Given the description of an element on the screen output the (x, y) to click on. 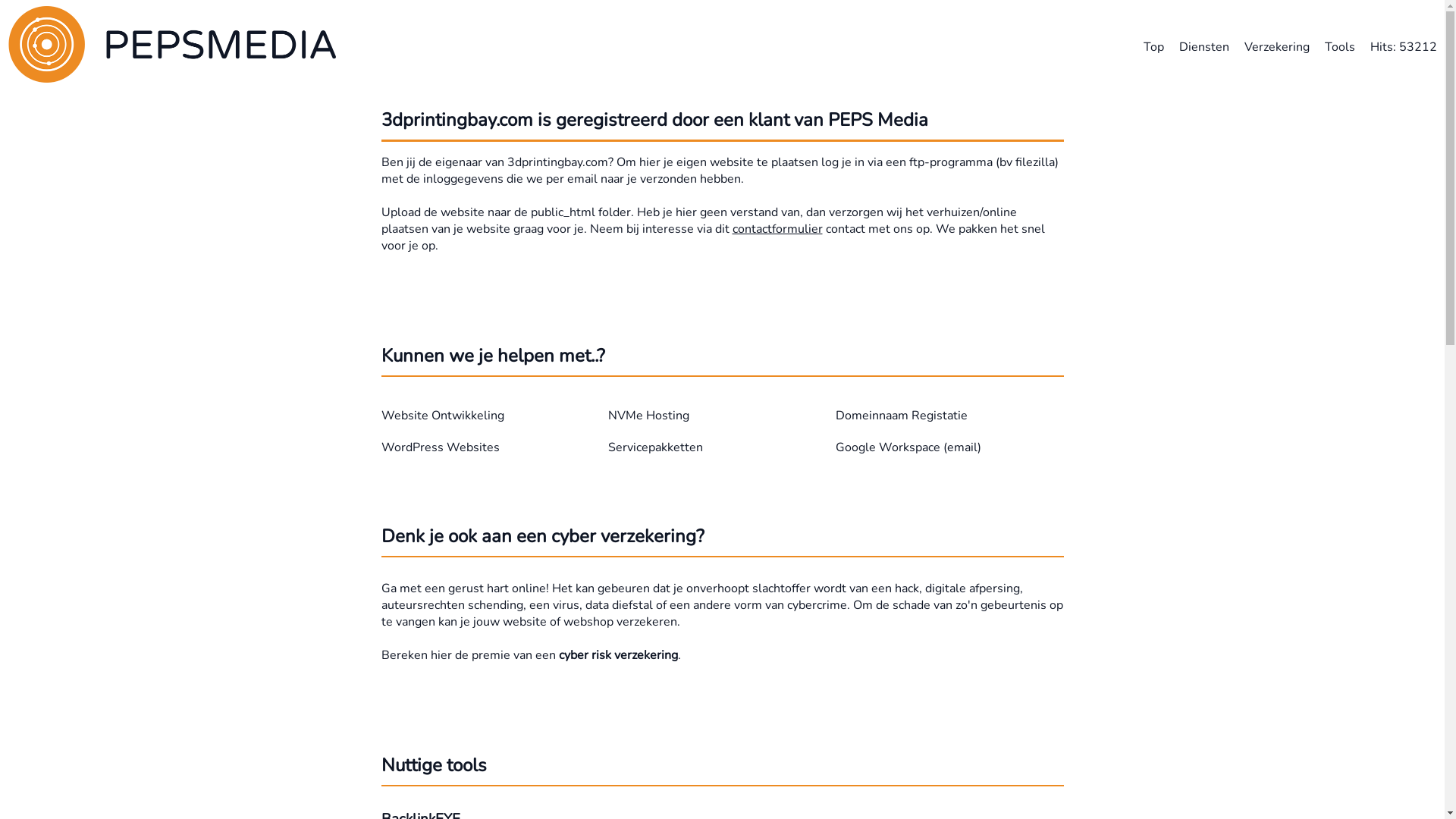
Top Element type: text (1153, 46)
contactformulier Element type: text (777, 228)
Servicepakketten Element type: text (655, 447)
Diensten Element type: text (1204, 46)
WordPress Websites Element type: text (439, 447)
Domeinnaam Registatie Element type: text (901, 415)
Verzekering Element type: text (1276, 46)
Tools Element type: text (1339, 46)
cyber risk verzekering Element type: text (617, 655)
NVMe Hosting Element type: text (648, 415)
Website Ontwikkeling Element type: text (441, 415)
Google Workspace (email) Element type: text (908, 447)
